Given the description of an element on the screen output the (x, y) to click on. 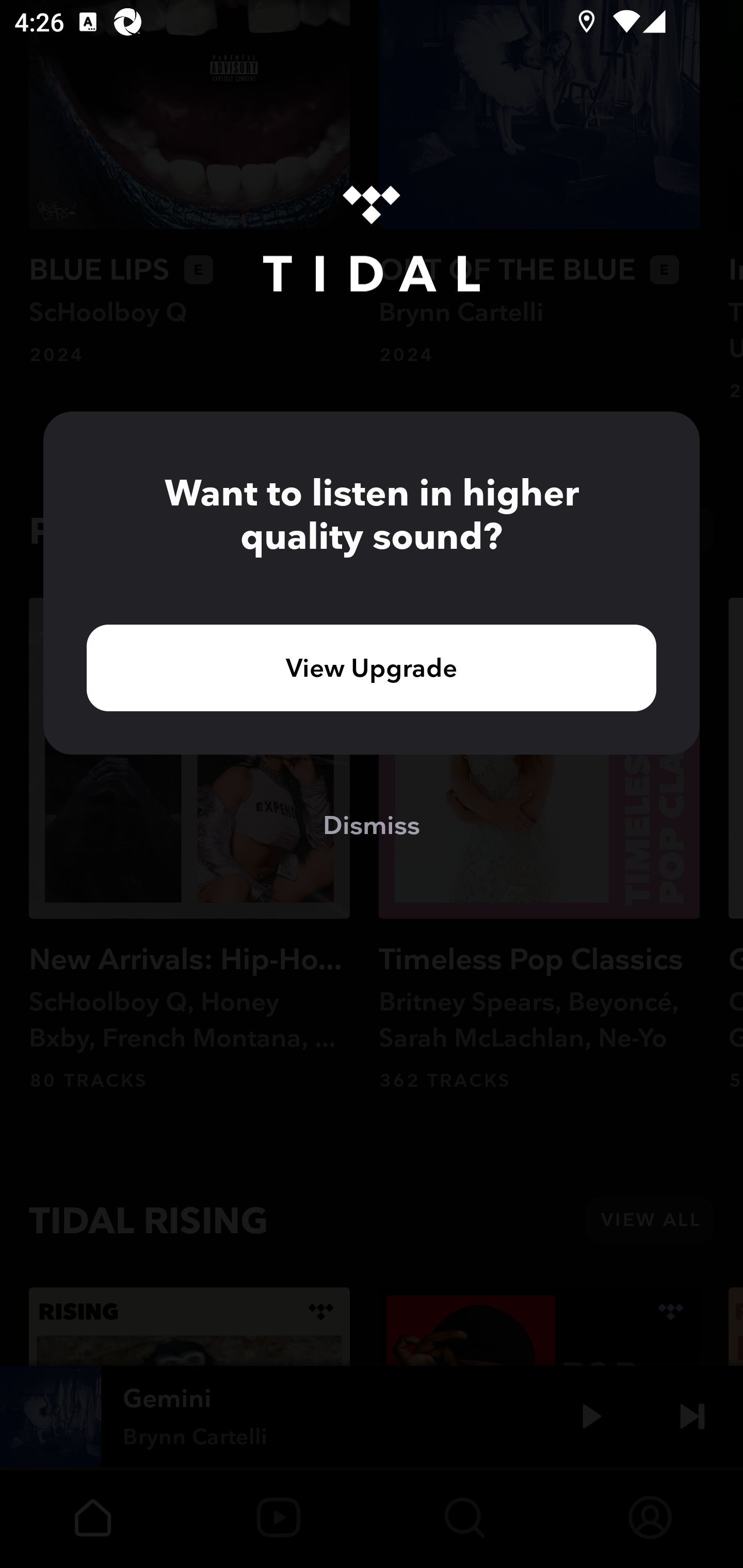
View Upgrade (371, 667)
Dismiss (371, 824)
